Given the description of an element on the screen output the (x, y) to click on. 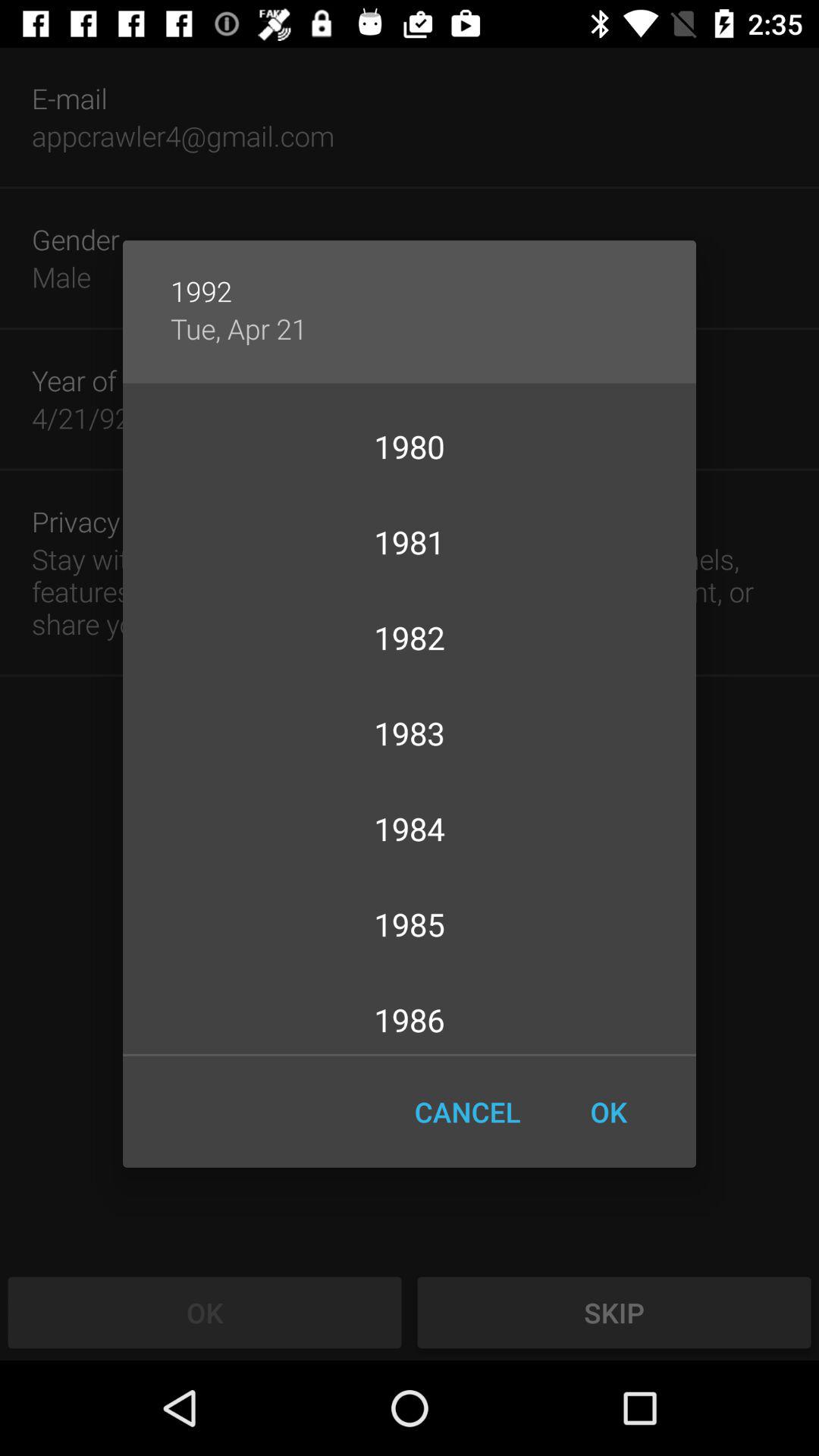
flip until tue, apr 21 (238, 328)
